Given the description of an element on the screen output the (x, y) to click on. 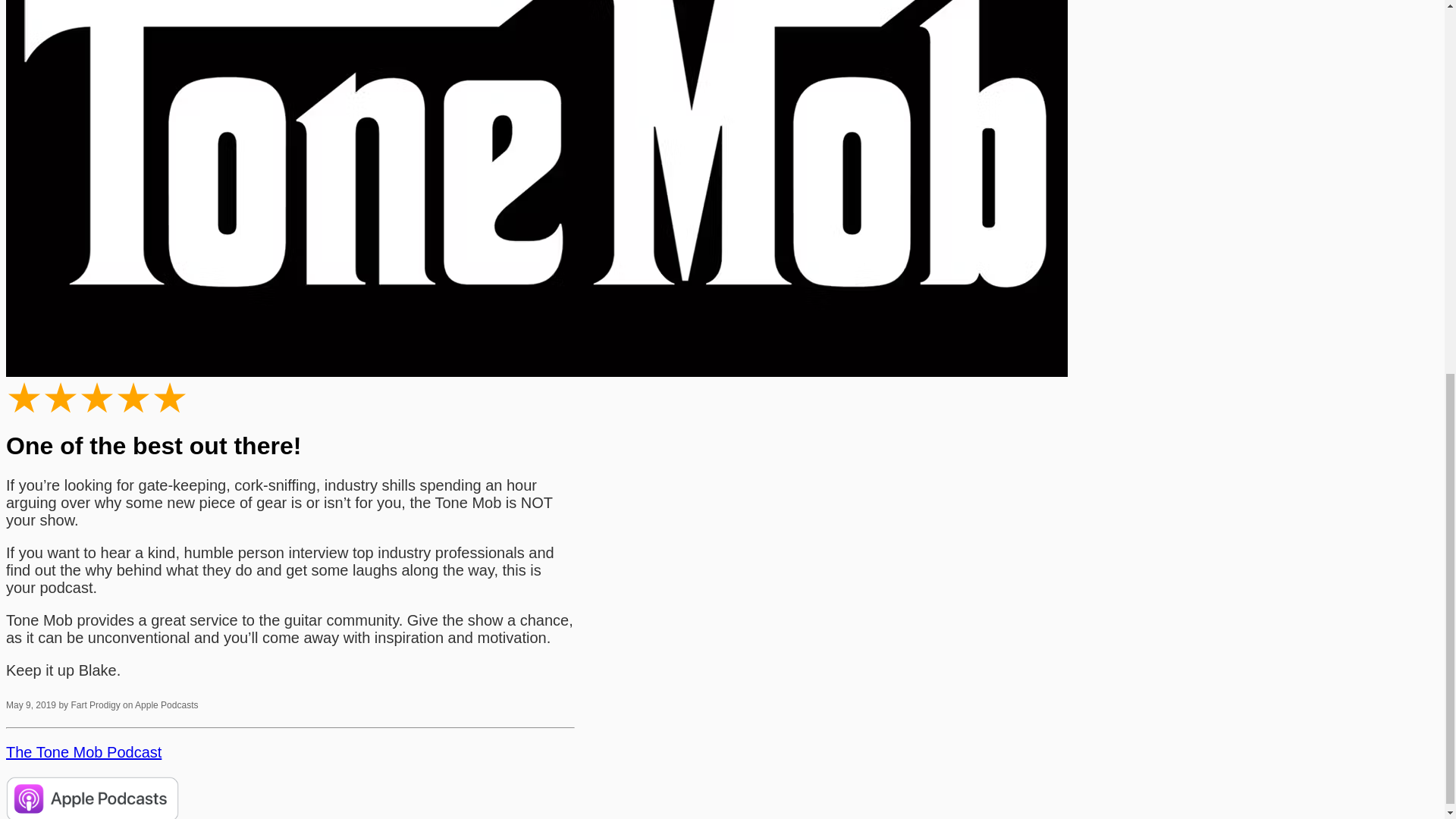
The Tone Mob Podcast (83, 751)
